Given the description of an element on the screen output the (x, y) to click on. 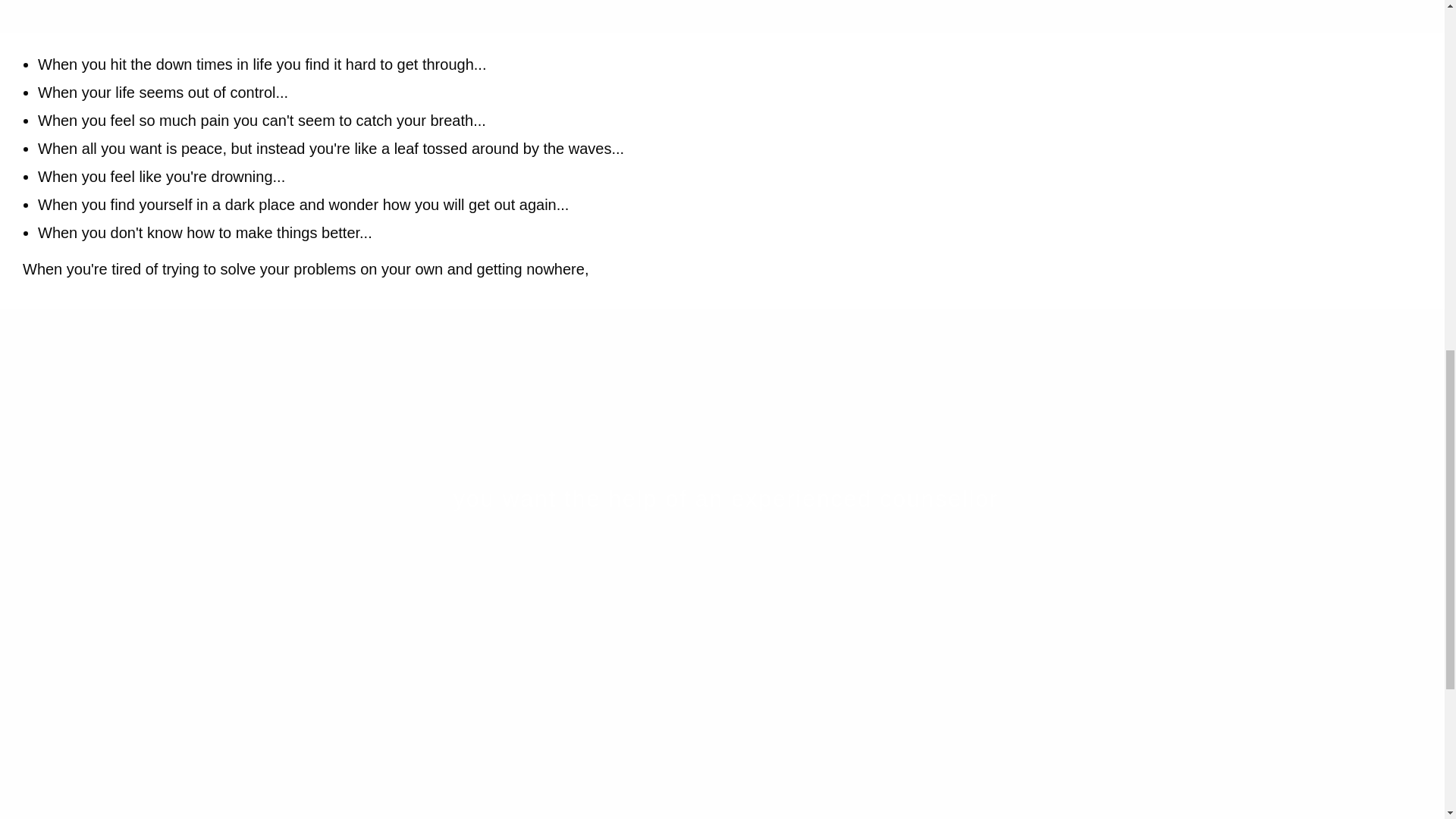
you want the help of an experienced counsellor (721, 497)
About us (721, 497)
